Given the description of an element on the screen output the (x, y) to click on. 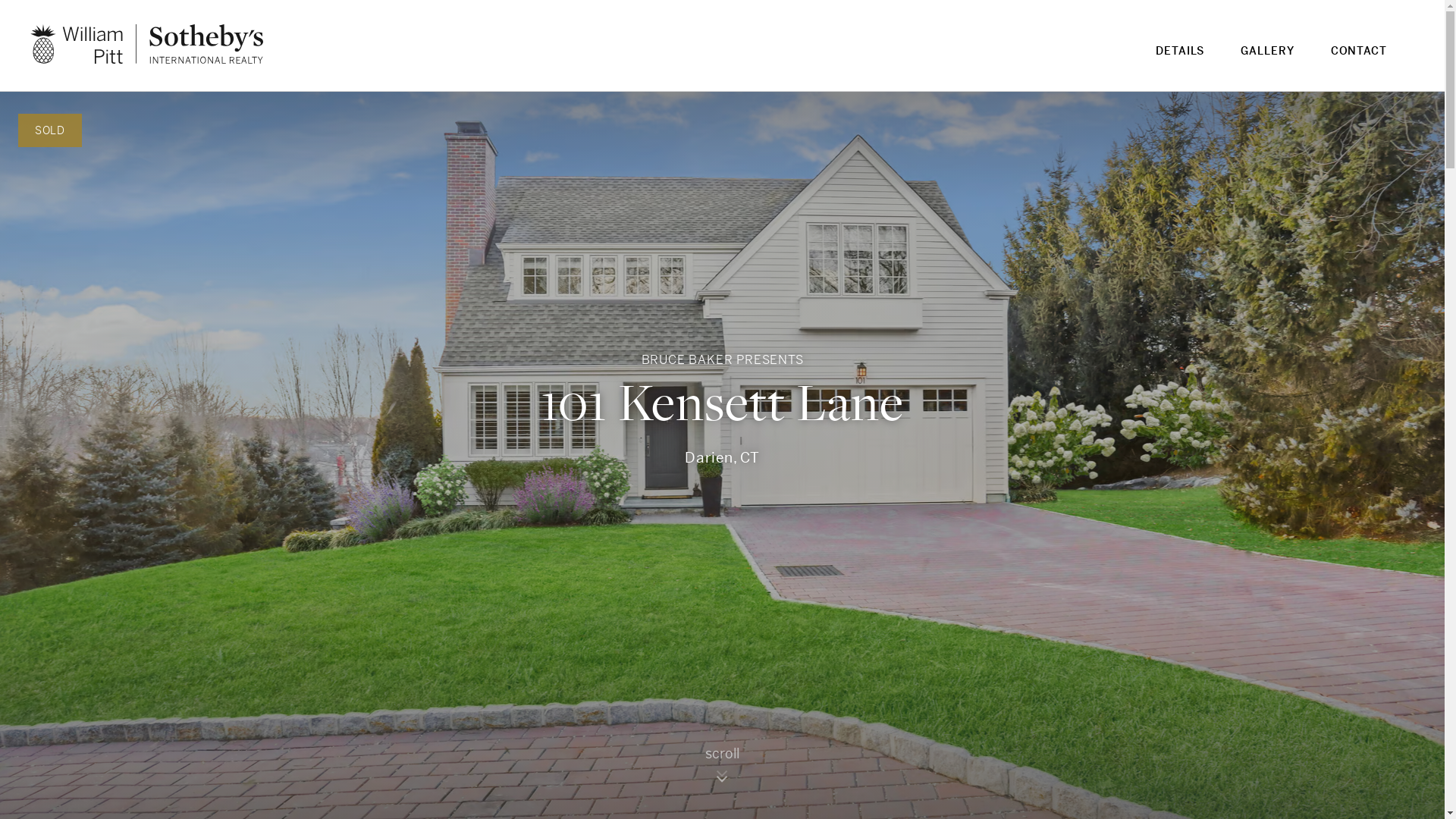
GALLERY Element type: text (1266, 60)
DETAILS Element type: text (1179, 60)
CONTACT Element type: text (1358, 60)
scroll Element type: text (722, 769)
William Pitt SIR Element type: hover (146, 43)
